Given the description of an element on the screen output the (x, y) to click on. 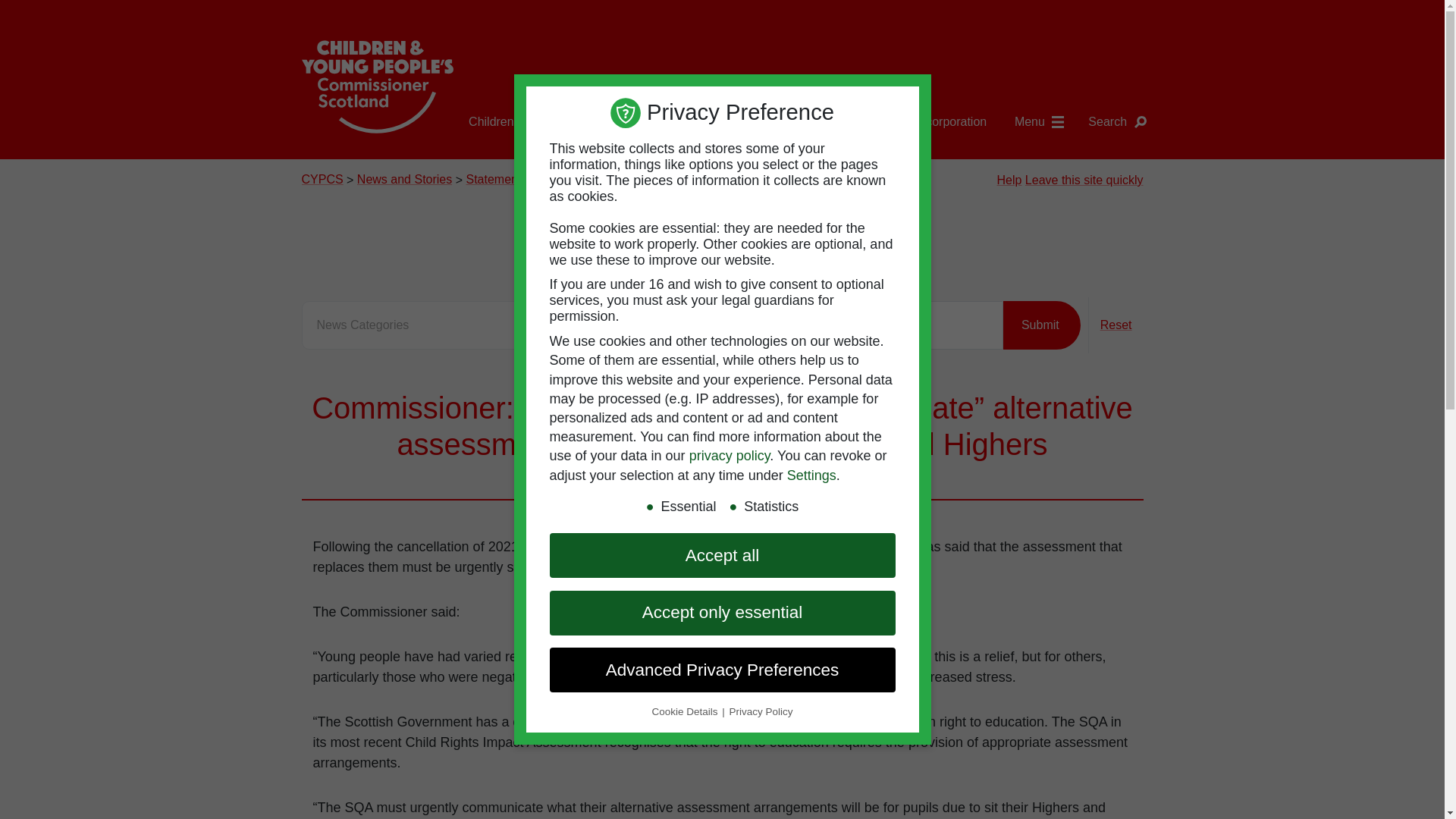
Resources (855, 122)
Submit (1041, 325)
Incorporation (951, 122)
News (699, 122)
Participation (619, 122)
Search (1116, 122)
Go to News and Stories. (403, 179)
Go to the Statements News Category archives. (496, 179)
Menu (1039, 122)
Select news type (474, 325)
Go to Google (1083, 179)
Go to The Children and Young People's Commissioner Scotland. (322, 179)
Positions (770, 122)
Search posts (828, 325)
